Given the description of an element on the screen output the (x, y) to click on. 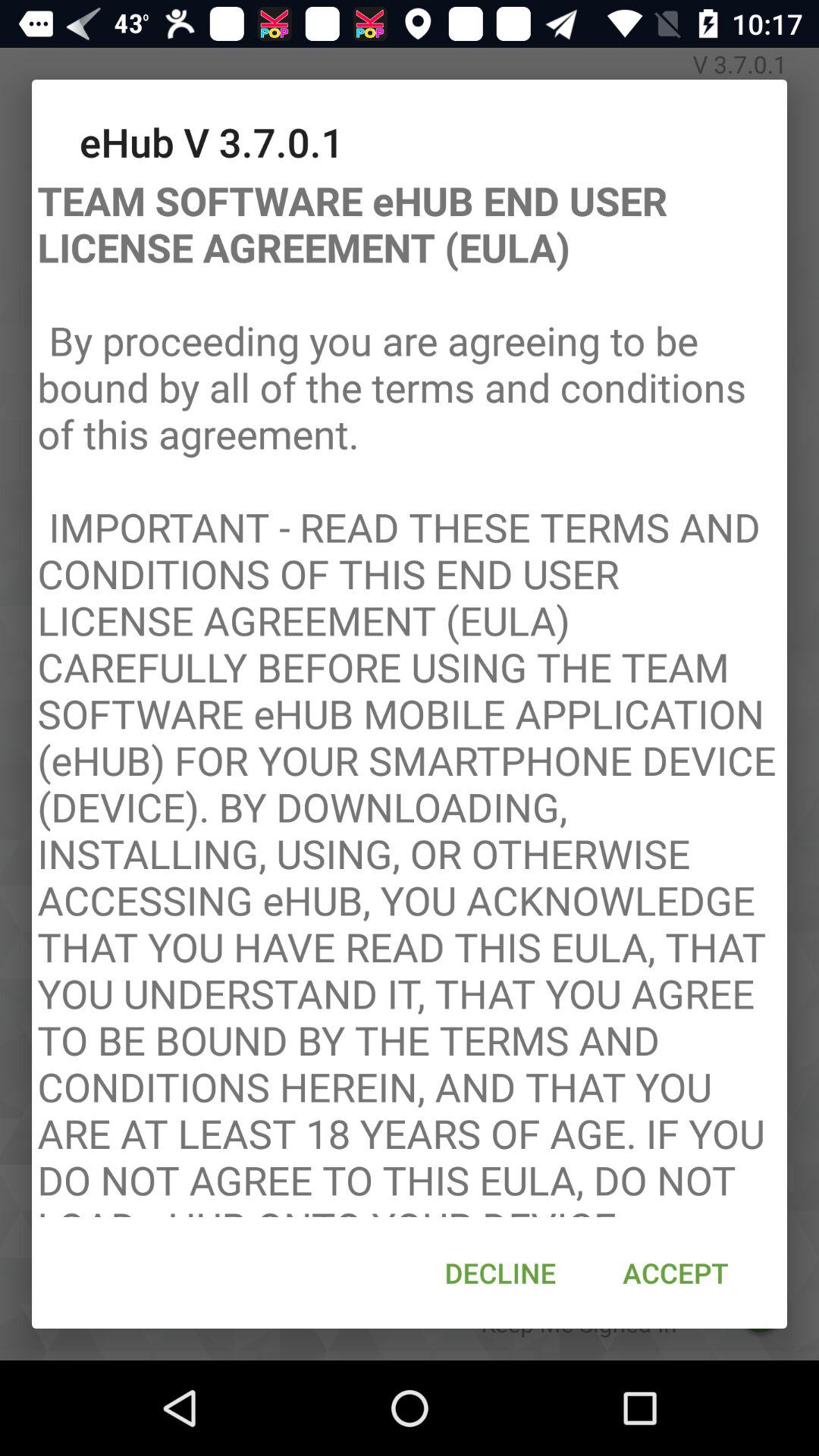
select item below the team software ehub (675, 1272)
